Given the description of an element on the screen output the (x, y) to click on. 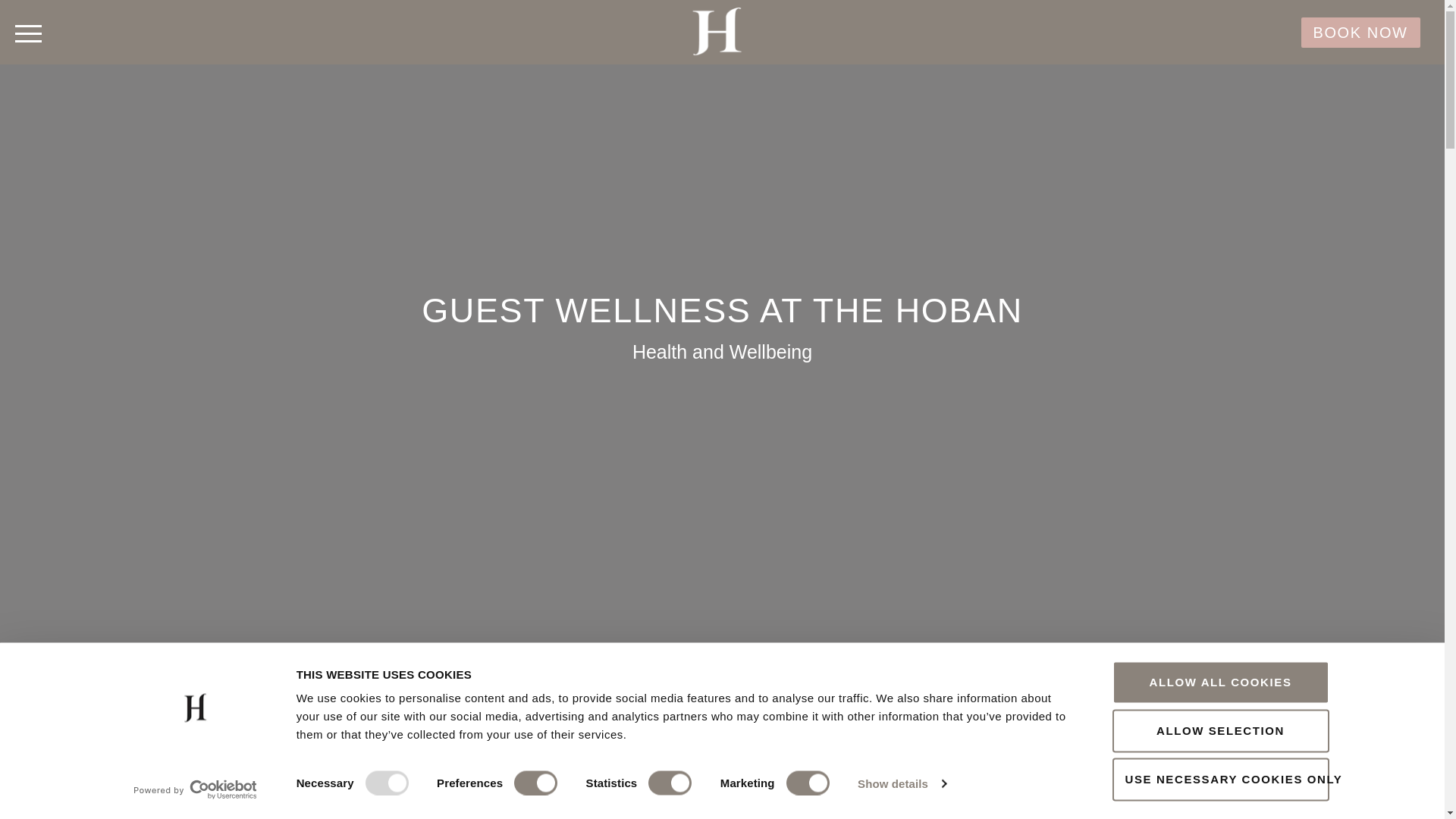
Show details (900, 783)
